Given the description of an element on the screen output the (x, y) to click on. 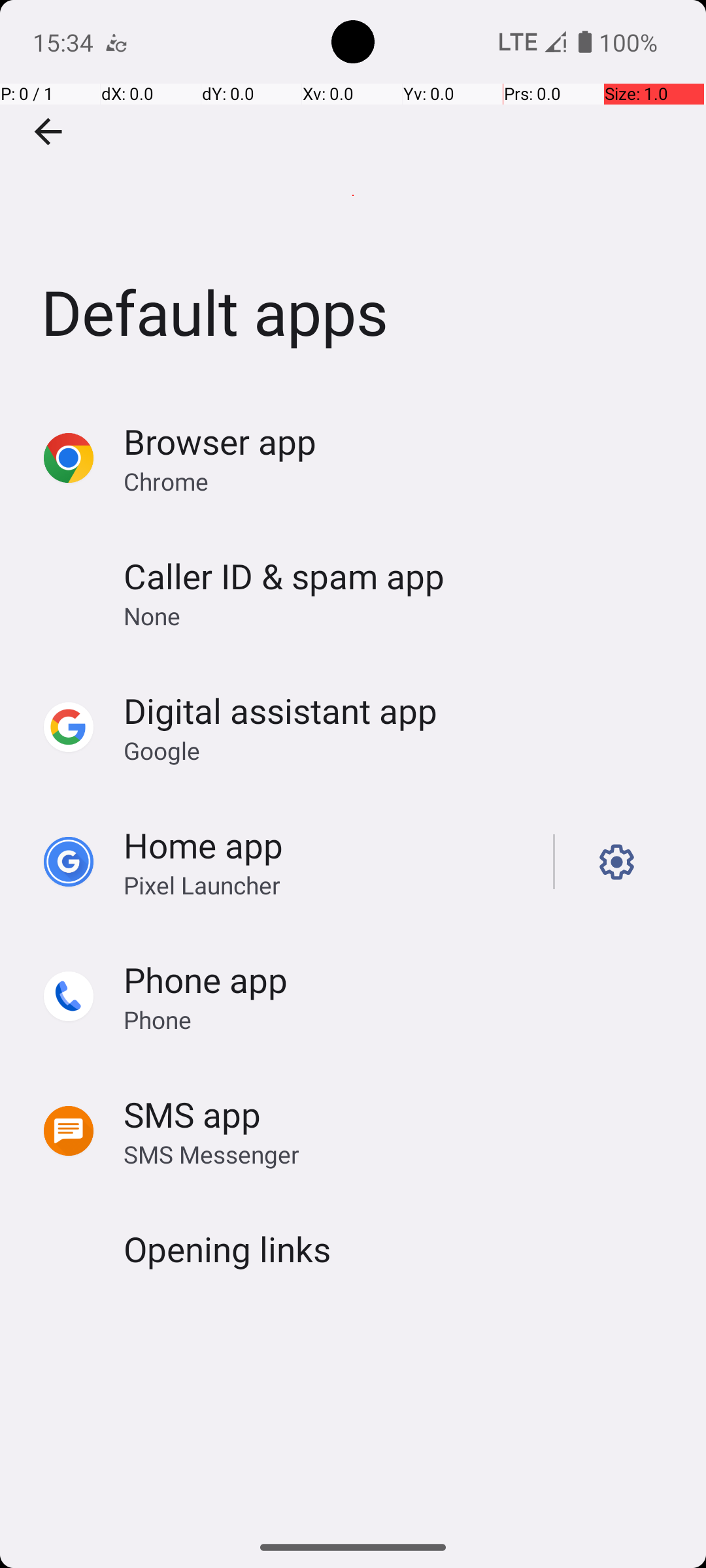
Browser app Element type: android.widget.TextView (220, 441)
Caller ID & spam app Element type: android.widget.TextView (283, 575)
Digital assistant app Element type: android.widget.TextView (280, 710)
Home app Element type: android.widget.TextView (203, 844)
Pixel Launcher Element type: android.widget.TextView (201, 884)
Phone app Element type: android.widget.TextView (205, 979)
SMS app Element type: android.widget.TextView (191, 1114)
Opening links Element type: android.widget.TextView (226, 1248)
